Given the description of an element on the screen output the (x, y) to click on. 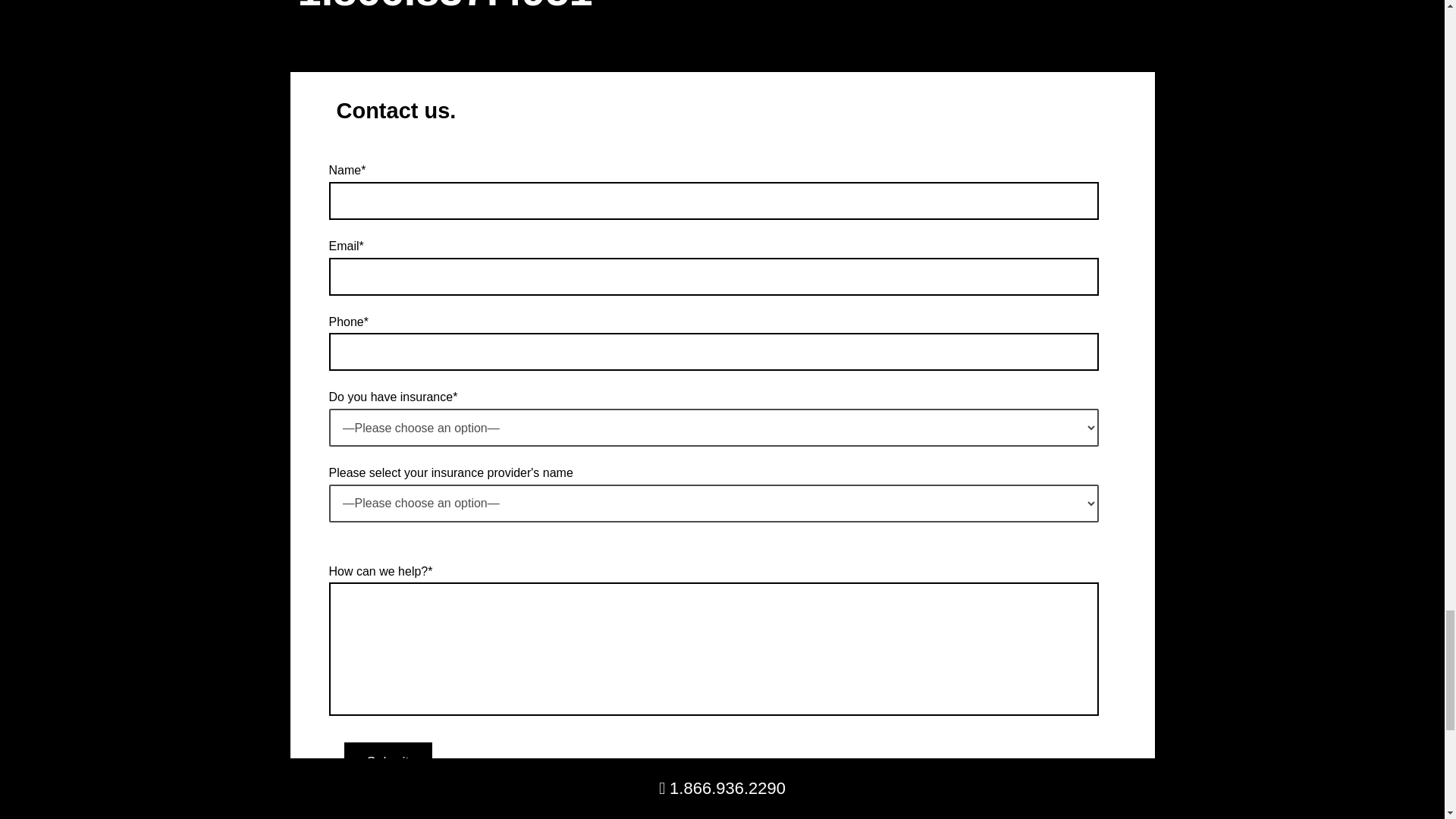
Submit (387, 762)
